Given the description of an element on the screen output the (x, y) to click on. 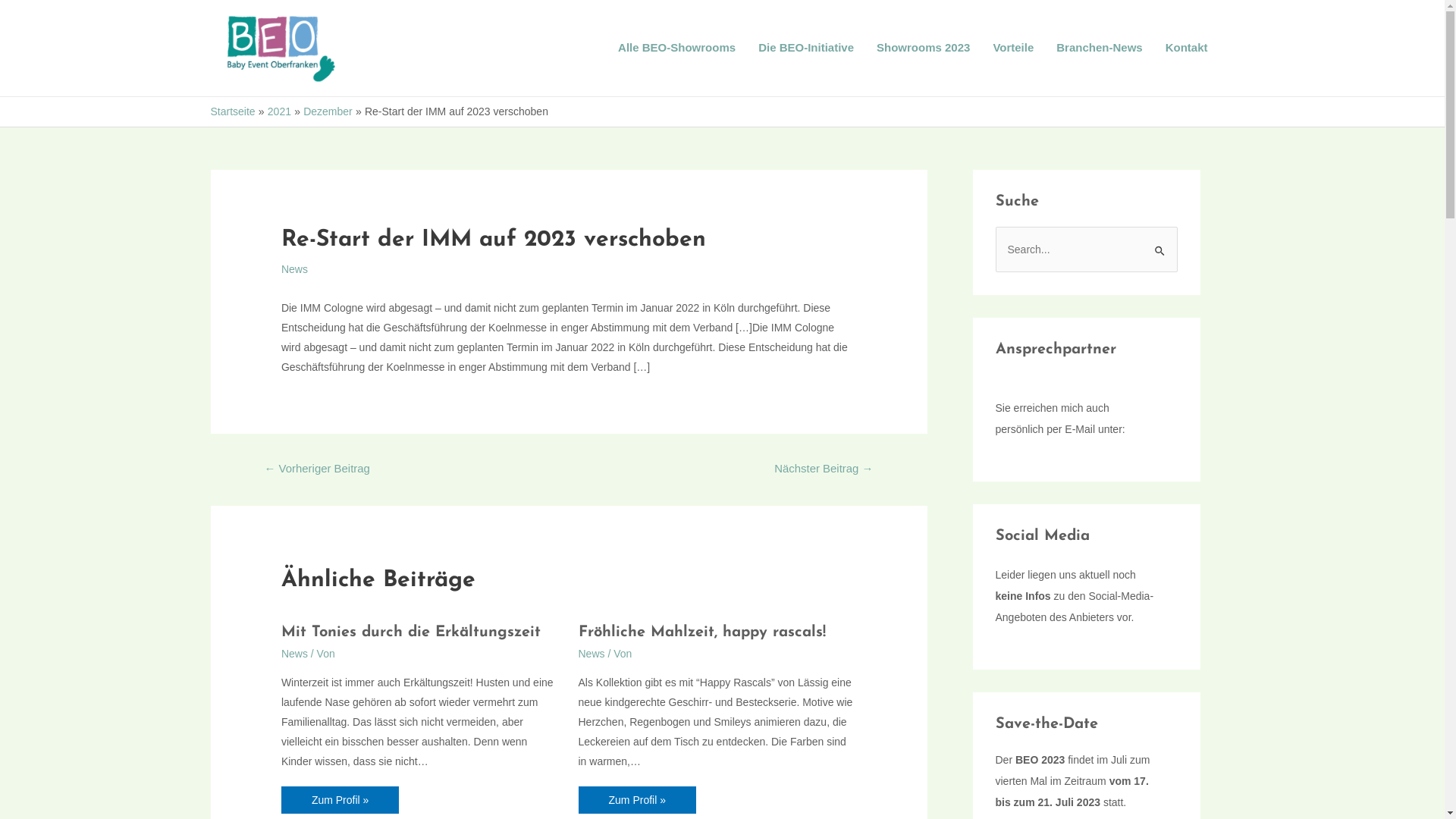
Showrooms 2023 Element type: text (923, 47)
Alle BEO-Showrooms Element type: text (676, 47)
News Element type: text (590, 653)
2021 Element type: text (279, 111)
Dezember Element type: text (327, 111)
Die BEO-Initiative Element type: text (805, 47)
Kontakt Element type: text (1186, 47)
News Element type: text (294, 653)
Vorteile Element type: text (1012, 47)
News Element type: text (294, 269)
Suche Element type: text (1160, 241)
Branchen-News Element type: text (1098, 47)
Startseite Element type: text (232, 111)
